Given the description of an element on the screen output the (x, y) to click on. 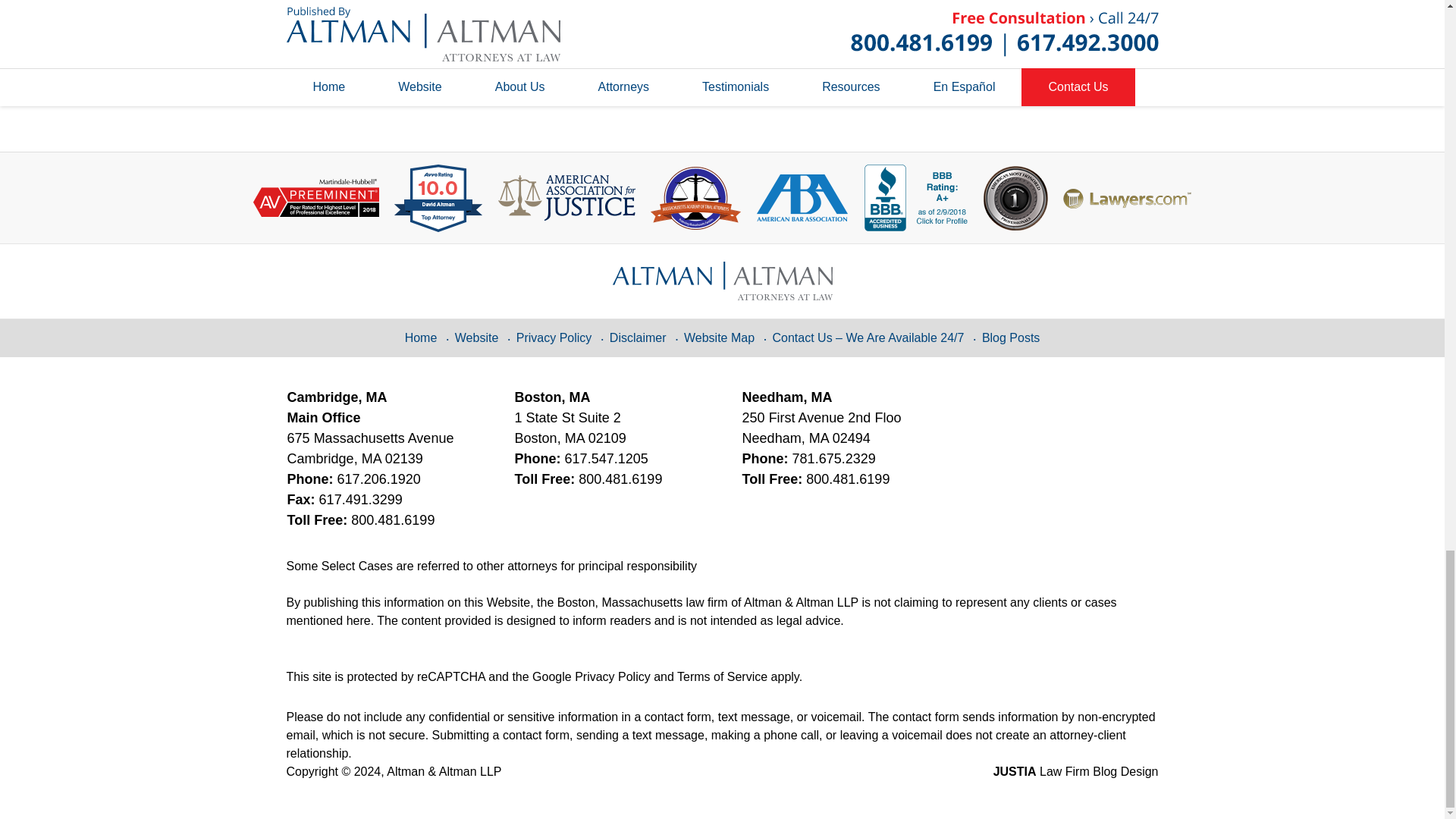
Home (372, 55)
Everett Man Charged in Halloween Beating (316, 55)
First-Degree Murder Verdict Reached in Chandra Levy Slaying (419, 55)
